Given the description of an element on the screen output the (x, y) to click on. 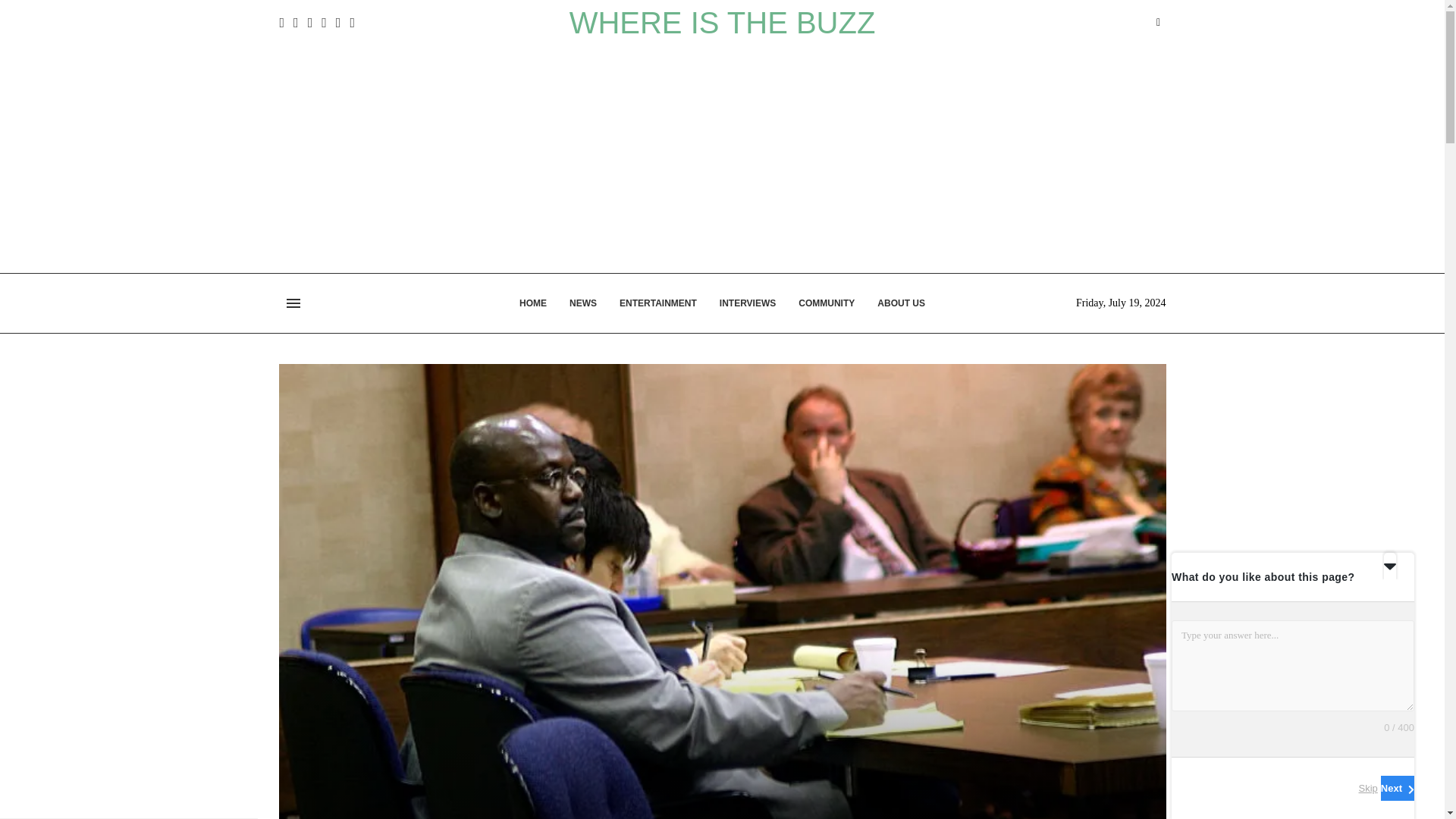
ABOUT US (900, 303)
WHERE IS THE BUZZ (722, 22)
COMMUNITY (825, 303)
ENTERTAINMENT (658, 303)
INTERVIEWS (747, 303)
